Given the description of an element on the screen output the (x, y) to click on. 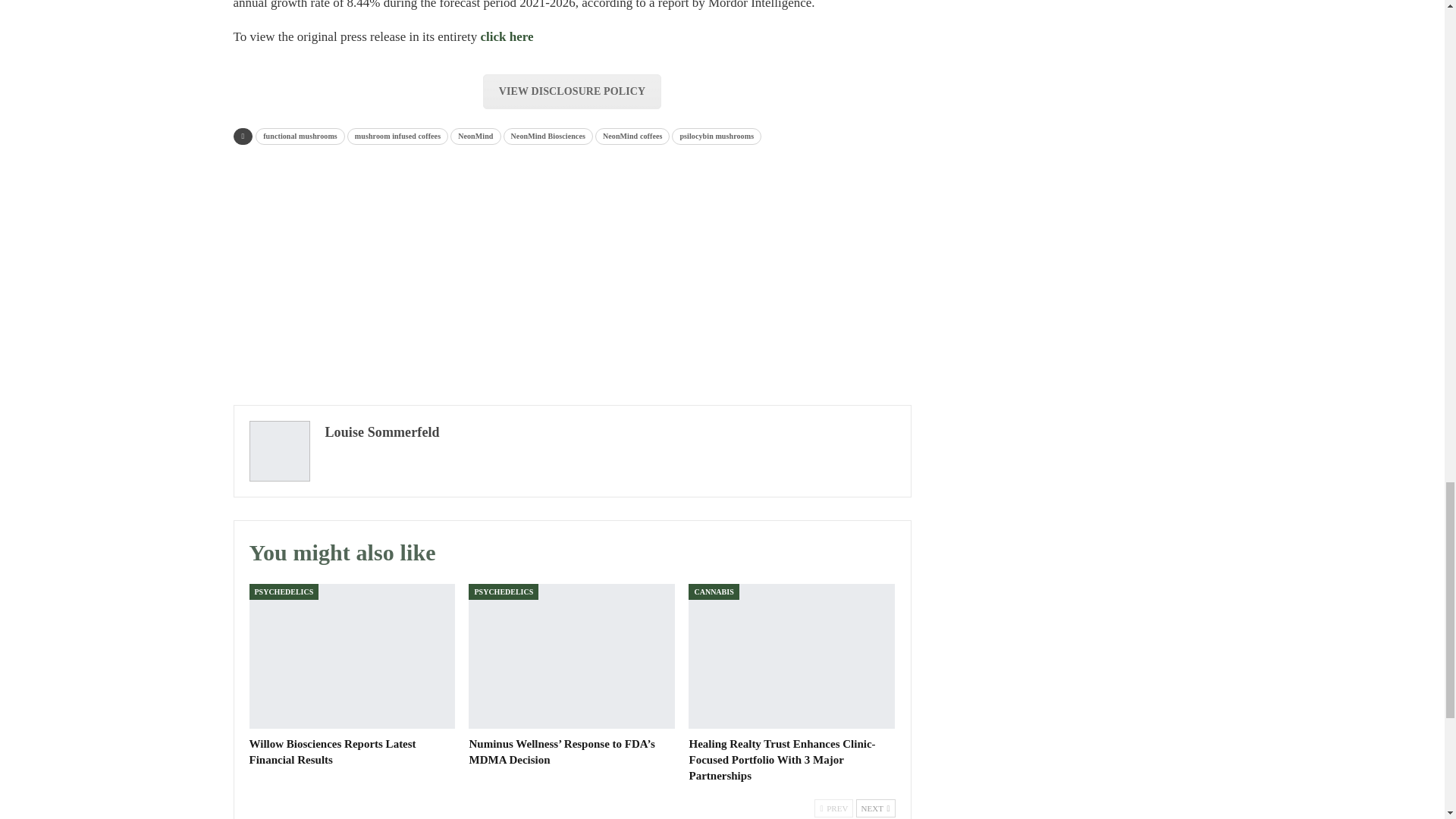
Next (875, 808)
mushroom infused coffees (397, 135)
Willow Biosciences Reports Latest Financial Results (351, 655)
VIEW DISCLOSURE POLICY (572, 90)
VIEW DISCLOSURE POLICY (572, 91)
Previous (833, 808)
NeonMind Biosciences (547, 135)
NeonMind (474, 135)
